Given the description of an element on the screen output the (x, y) to click on. 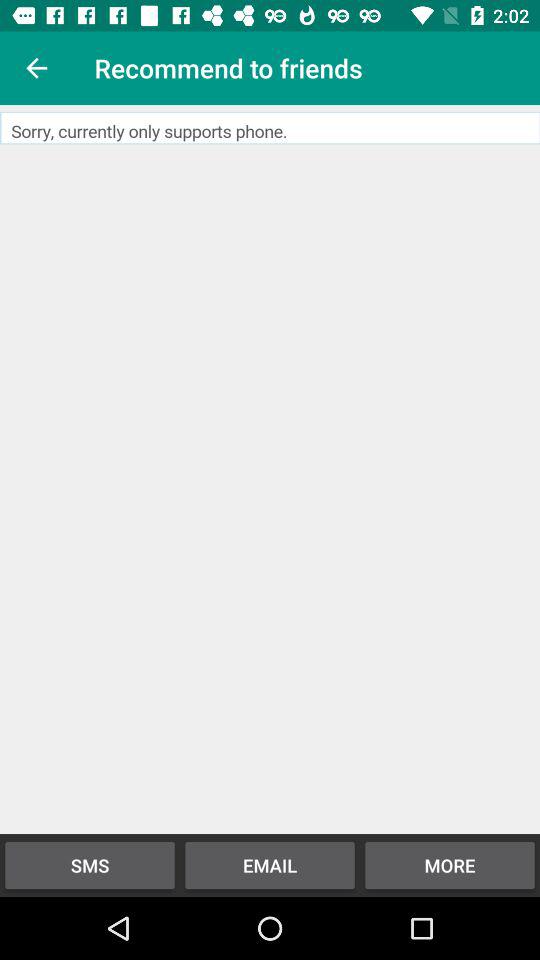
email button (270, 469)
